Given the description of an element on the screen output the (x, y) to click on. 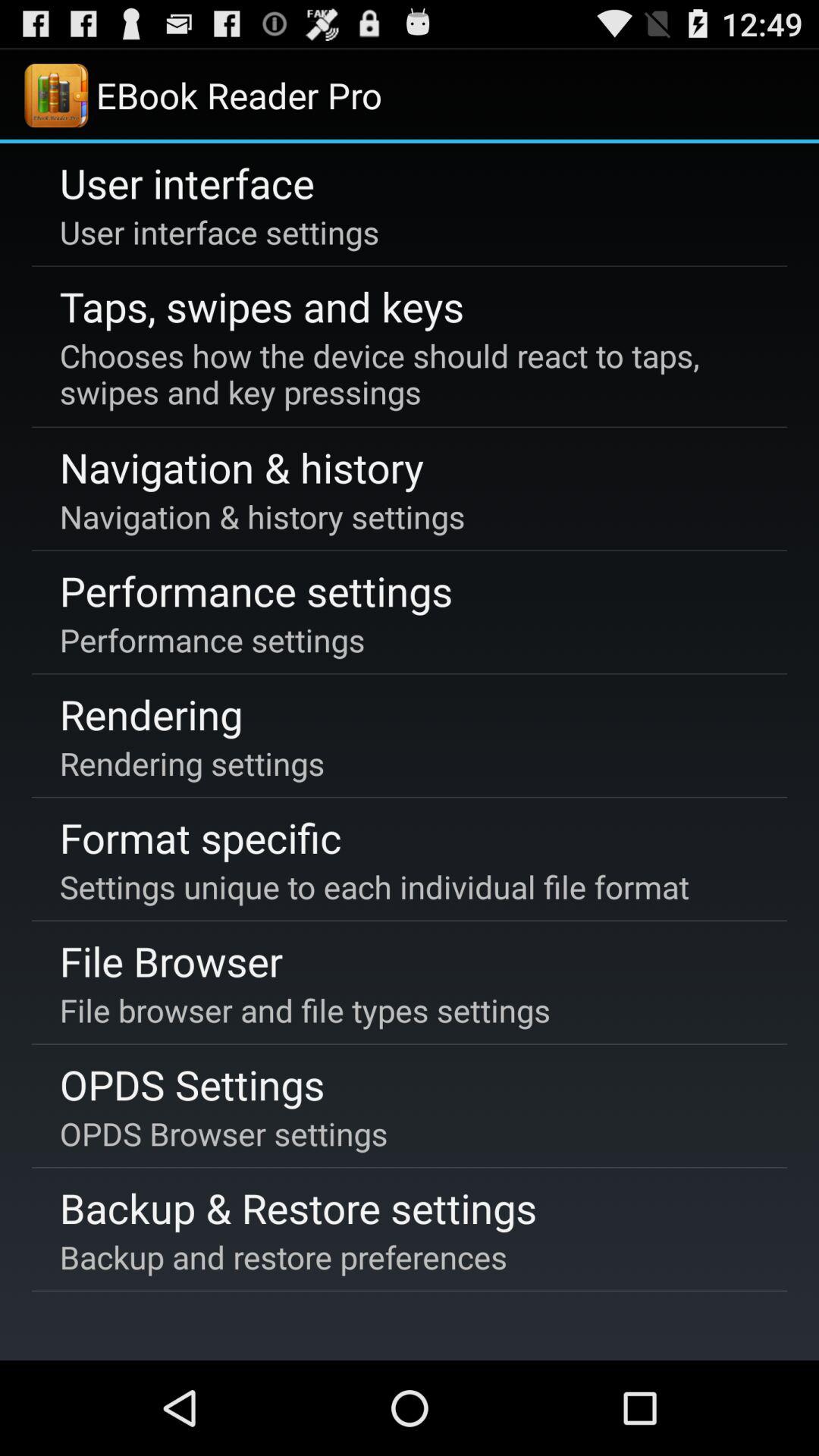
click item at the top (407, 373)
